Given the description of an element on the screen output the (x, y) to click on. 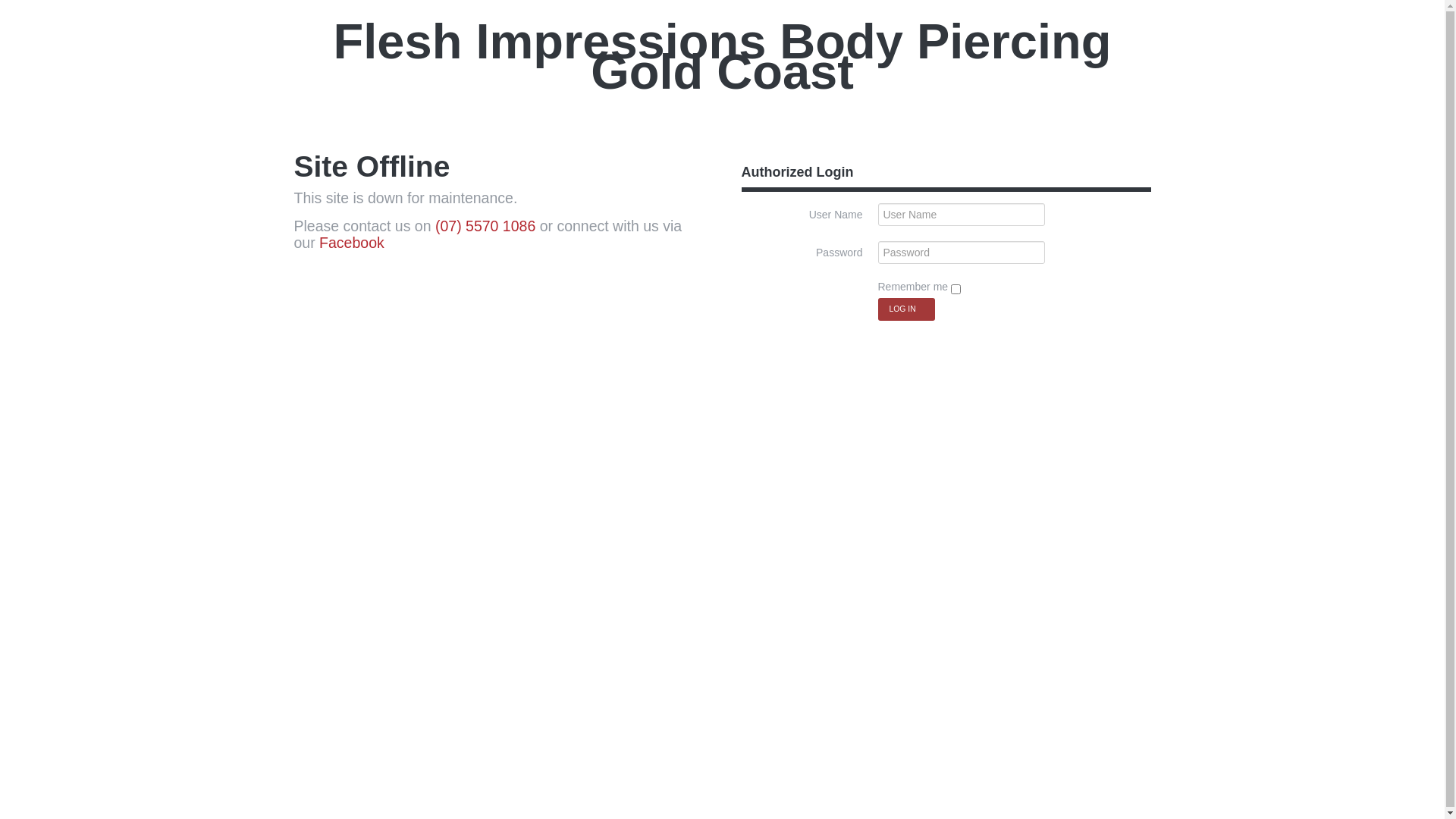
(07) 5570 1086 Element type: text (485, 225)
Facebook Element type: text (351, 242)
Log in Element type: text (906, 309)
